Given the description of an element on the screen output the (x, y) to click on. 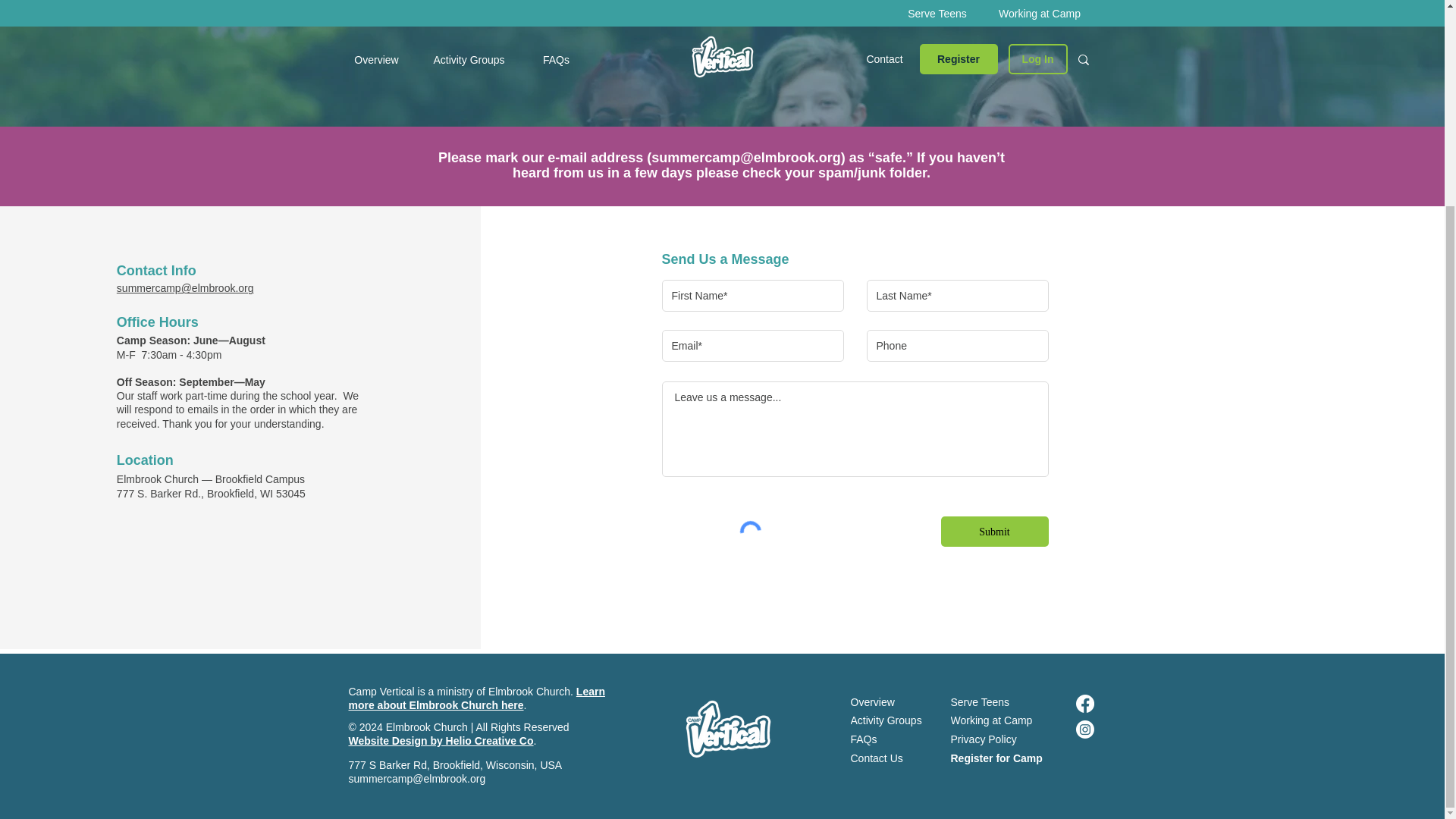
Contact Us (889, 758)
Working at Camp (1004, 720)
Privacy Policy (1004, 739)
777 S Barker Rd, Brookfield, Wisconsin, USA (455, 765)
Register for Camp (1004, 758)
Serve Teens (989, 701)
Activity Groups (896, 720)
Overview (885, 701)
FAQs (880, 739)
